Given the description of an element on the screen output the (x, y) to click on. 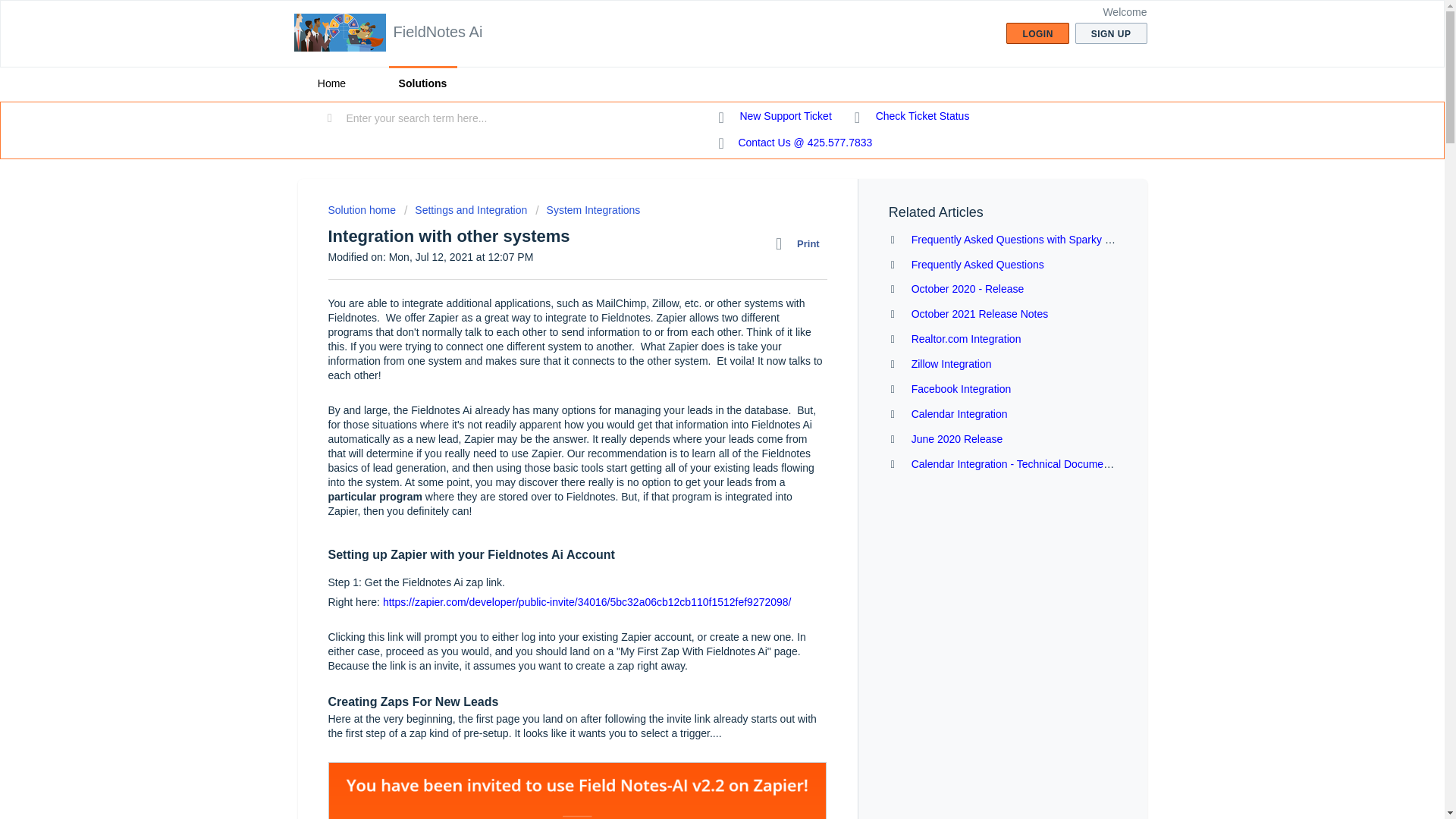
SIGN UP (1111, 33)
Calendar Integration (959, 413)
Check Ticket Status (911, 116)
LOGIN (1037, 33)
October 2021 Release Notes (979, 313)
Solution home (362, 209)
New Support Ticket (775, 116)
Frequently Asked Questions with Sparky as an Add-on (1039, 239)
System Integrations (587, 209)
New support ticket (775, 116)
